Given the description of an element on the screen output the (x, y) to click on. 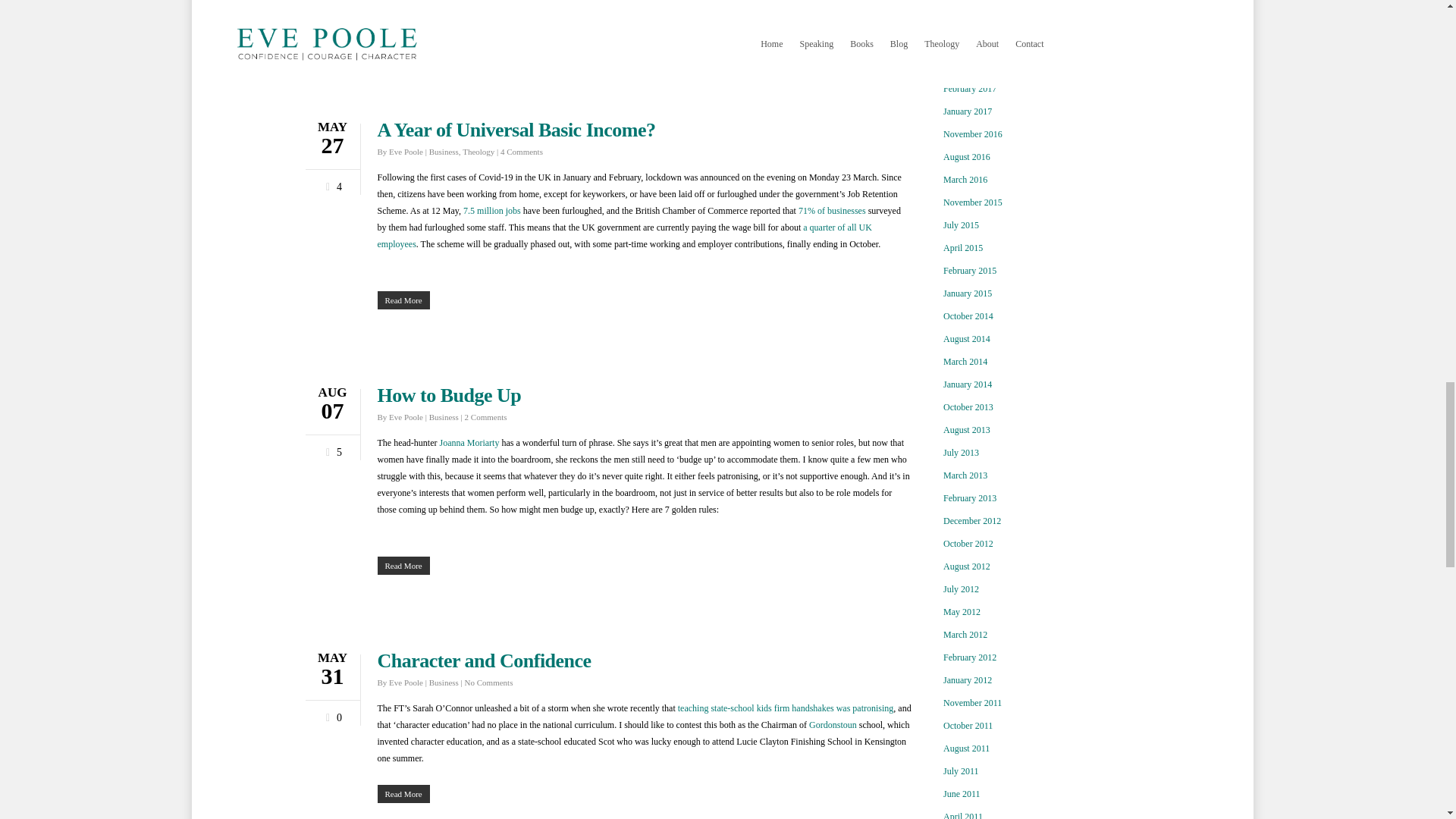
Love this (330, 449)
Love this (330, 184)
Posts by Eve Poole (405, 416)
Love this (330, 714)
Posts by Eve Poole (405, 151)
